Given the description of an element on the screen output the (x, y) to click on. 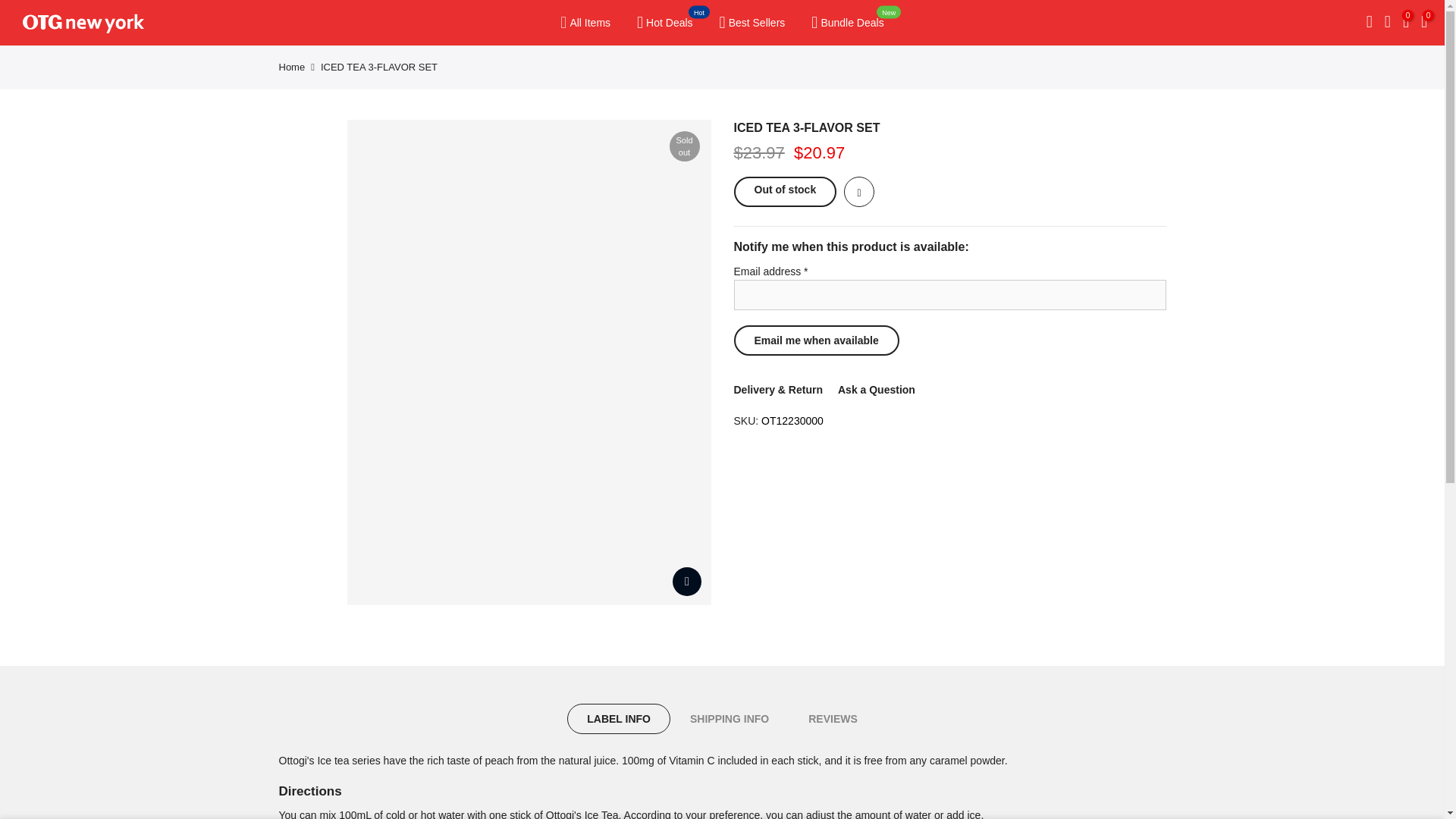
Email me when available (816, 340)
All Items (585, 22)
